Given the description of an element on the screen output the (x, y) to click on. 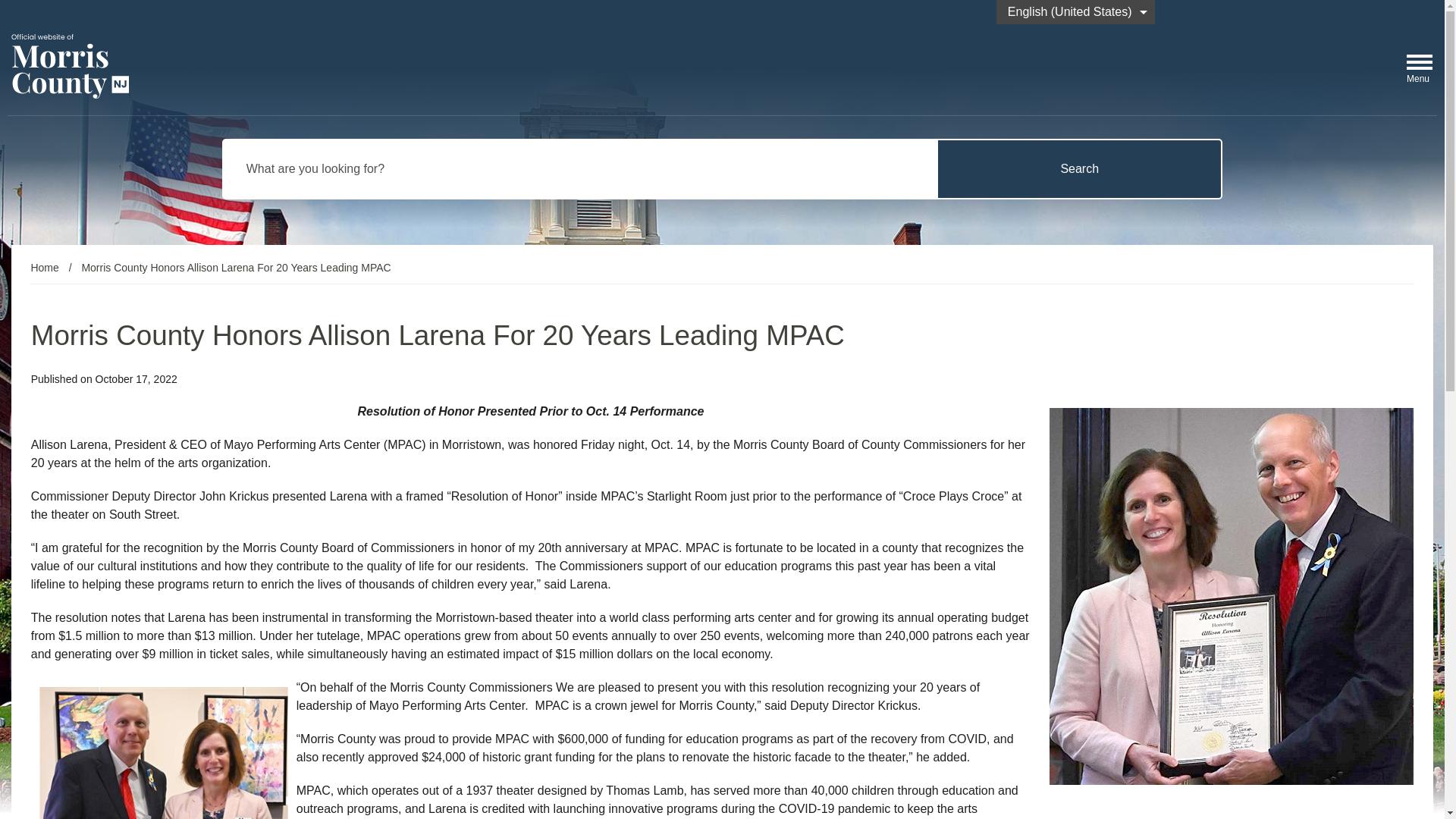
Morris County, NJ - Home - Logo (70, 65)
Search (1079, 168)
Search (1079, 168)
Search (1079, 168)
Menu (1417, 64)
